Given the description of an element on the screen output the (x, y) to click on. 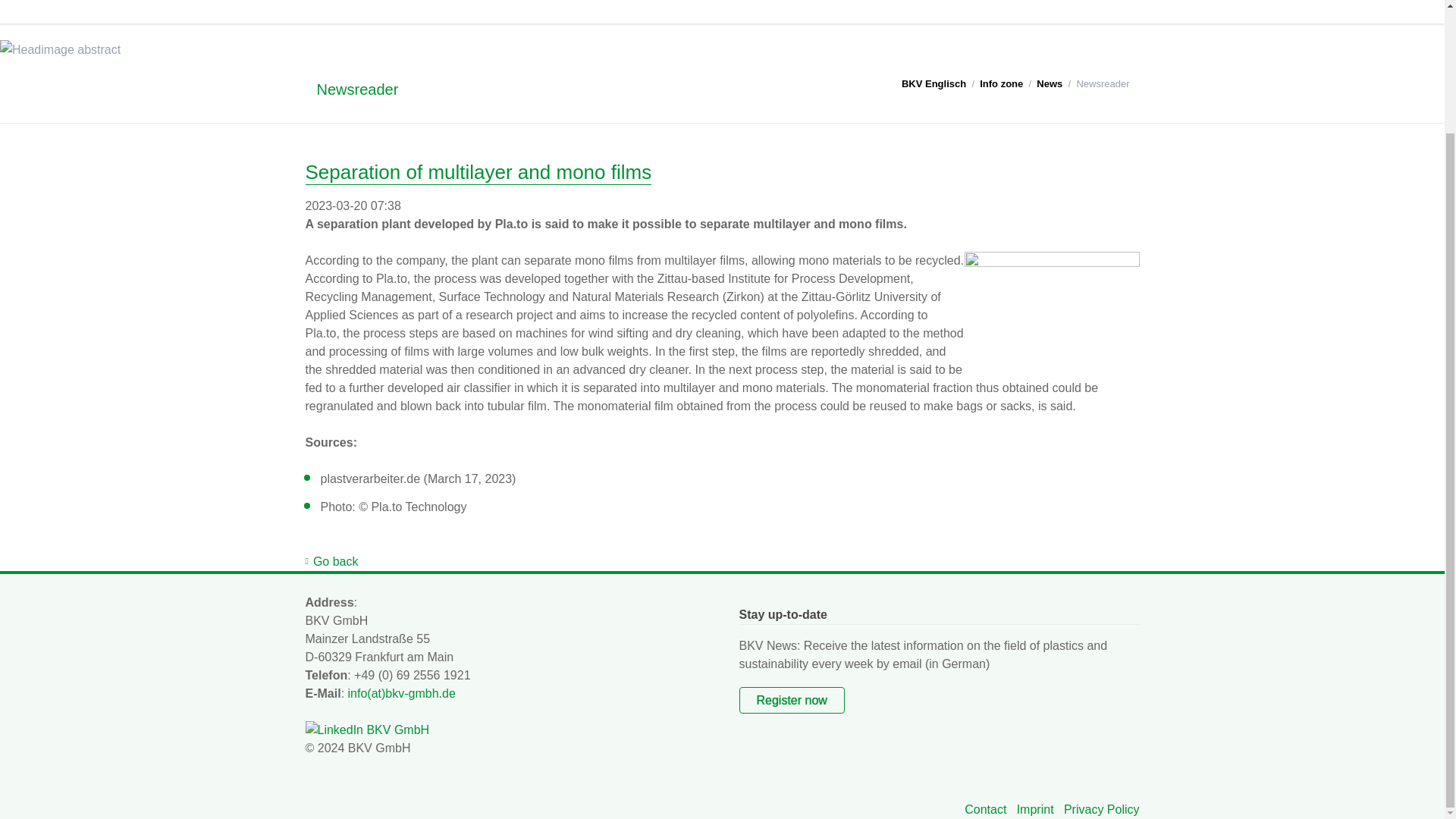
Info zone (904, 11)
Home (573, 11)
Suchen (1125, 3)
Company (641, 11)
Studies (834, 11)
Company (641, 11)
Newsletter (982, 11)
Home (573, 11)
Info zone (904, 11)
Newsletter (982, 11)
